Given the description of an element on the screen output the (x, y) to click on. 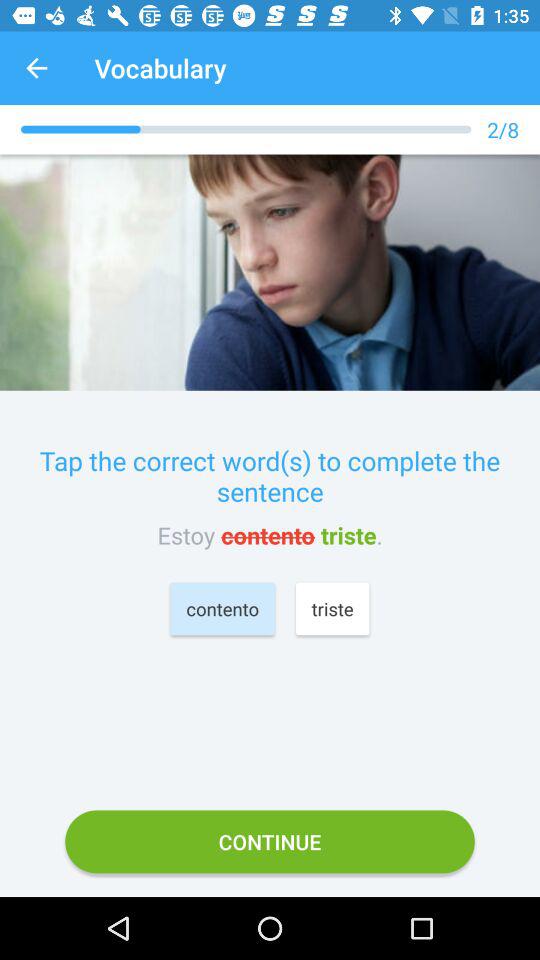
turn on the icon next to the vocabulary app (36, 68)
